Given the description of an element on the screen output the (x, y) to click on. 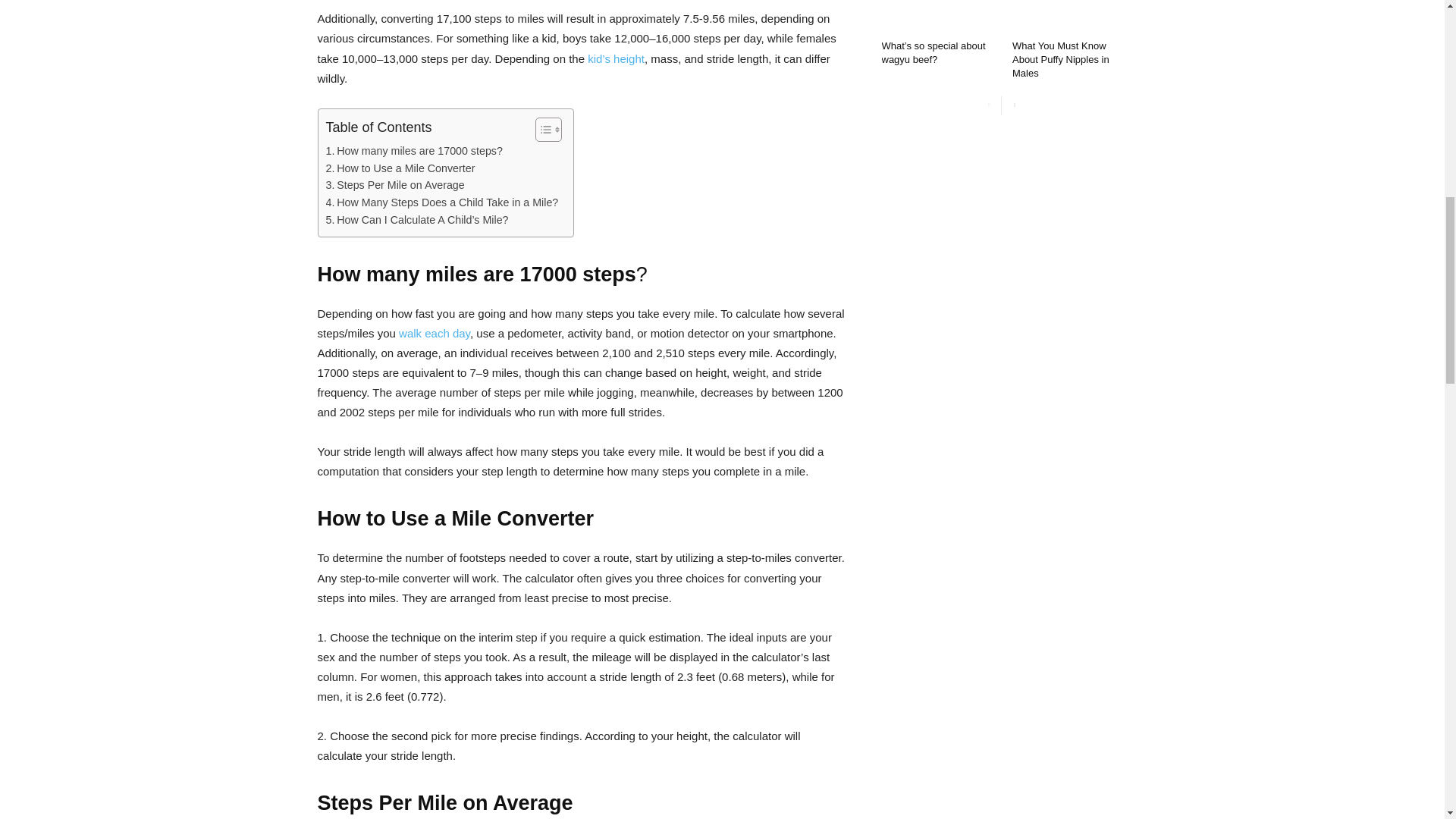
How Many Steps Does a Child Take in a Mile? (442, 202)
How to Use a Mile Converter (401, 168)
Steps Per Mile on Average (395, 185)
How many miles are 17000 steps? (414, 150)
